Given the description of an element on the screen output the (x, y) to click on. 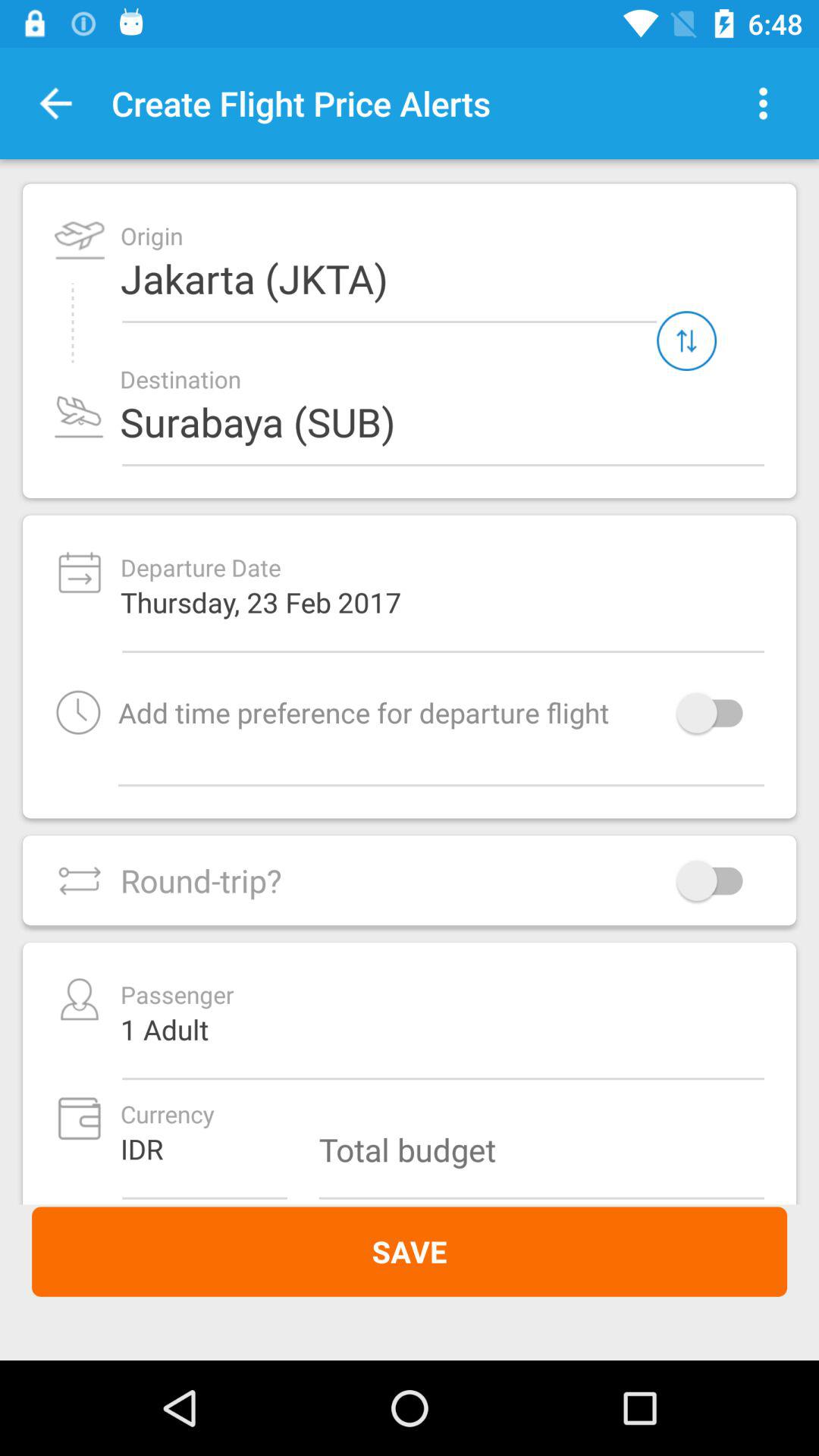
click the icon above the jakarta (jkta) item (763, 103)
